Given the description of an element on the screen output the (x, y) to click on. 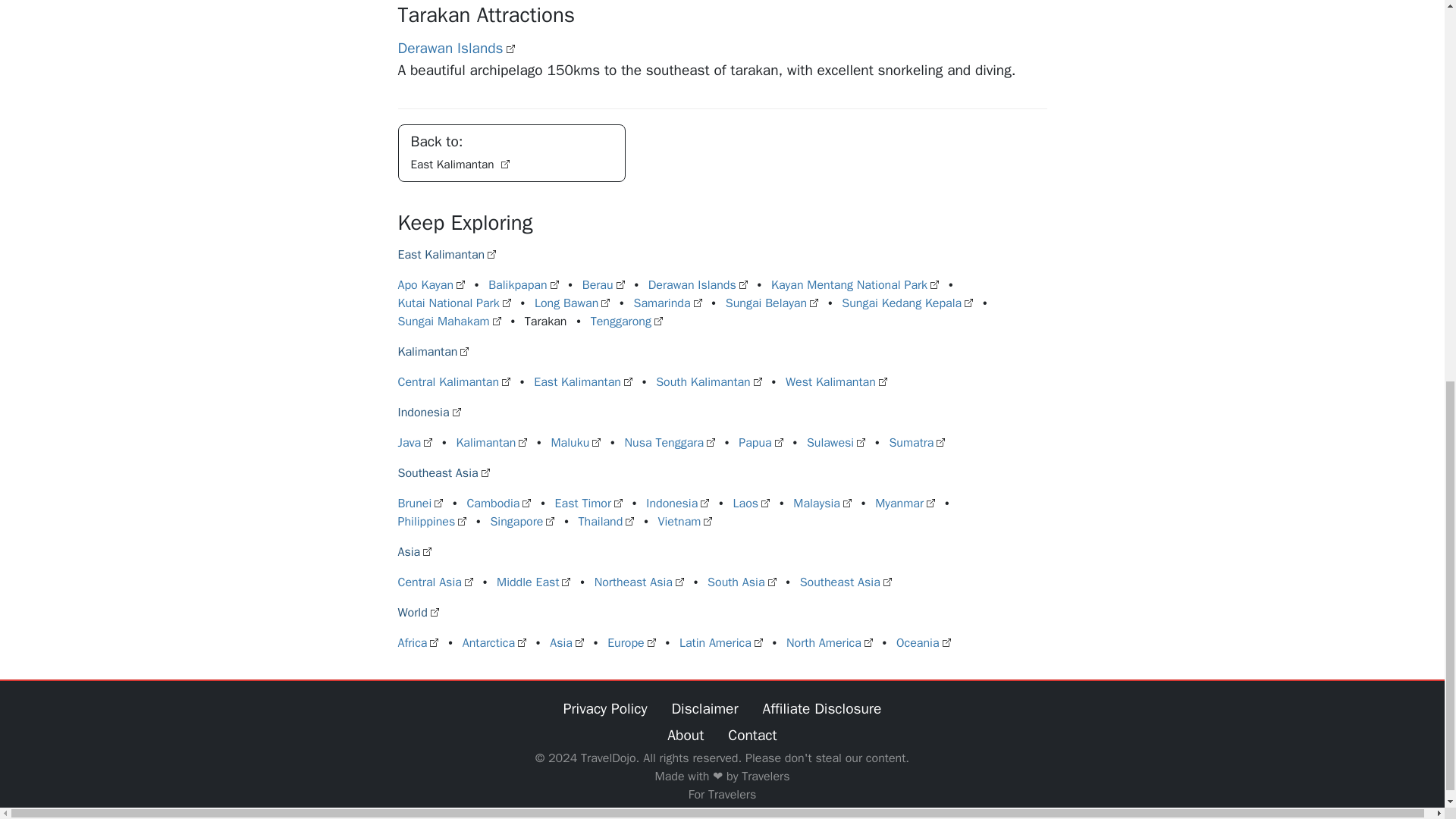
Apo Kayan (430, 284)
Sungai Kedang Kepala (906, 303)
East Kalimantan (582, 381)
Kutai National Park (454, 303)
Tenggarong (626, 321)
East Kalimantan (446, 254)
Derawan Islands (510, 152)
Berau (697, 284)
Long Bawan (603, 284)
